Given the description of an element on the screen output the (x, y) to click on. 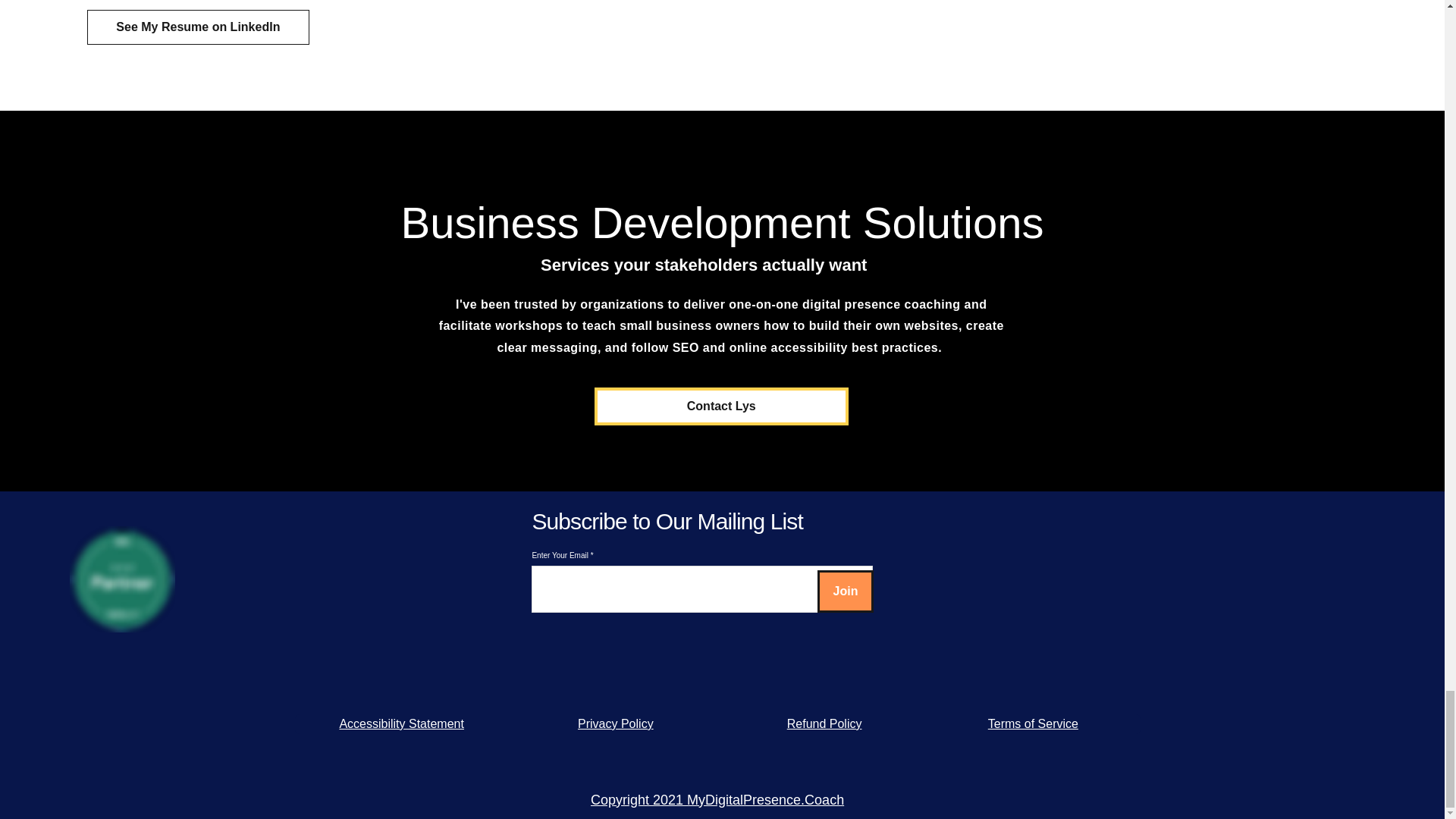
Copyright 2021 MyDigitalPresence.Coach (717, 799)
Join (844, 590)
See My Resume on LinkedIn (197, 27)
Refund Policy (824, 723)
Privacy Policy (615, 723)
Terms of Service (1033, 723)
